Given the description of an element on the screen output the (x, y) to click on. 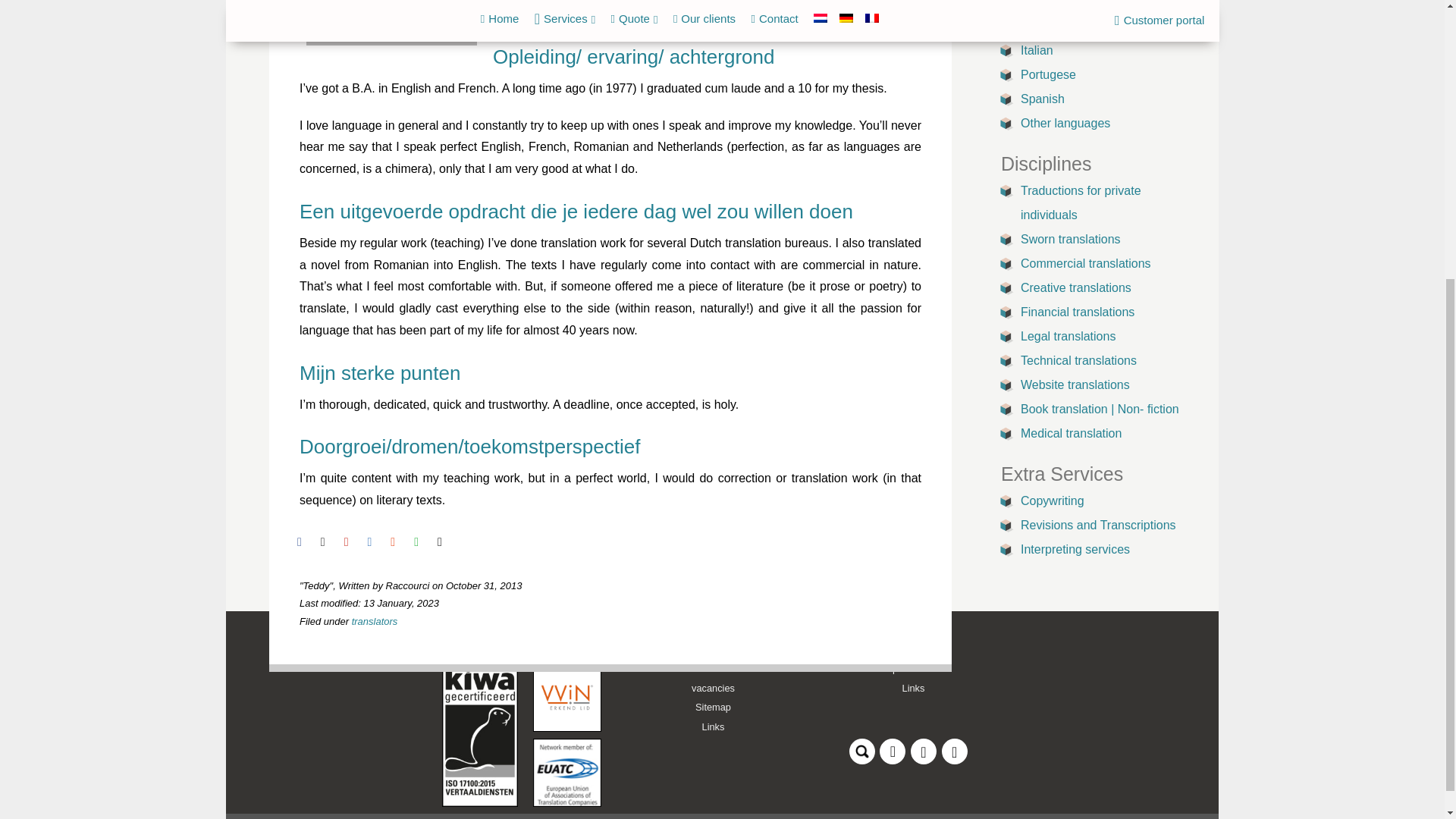
Connect via Facebook (925, 747)
Raccourci op Twitter (955, 747)
Connect via Linkedin (893, 747)
